Given the description of an element on the screen output the (x, y) to click on. 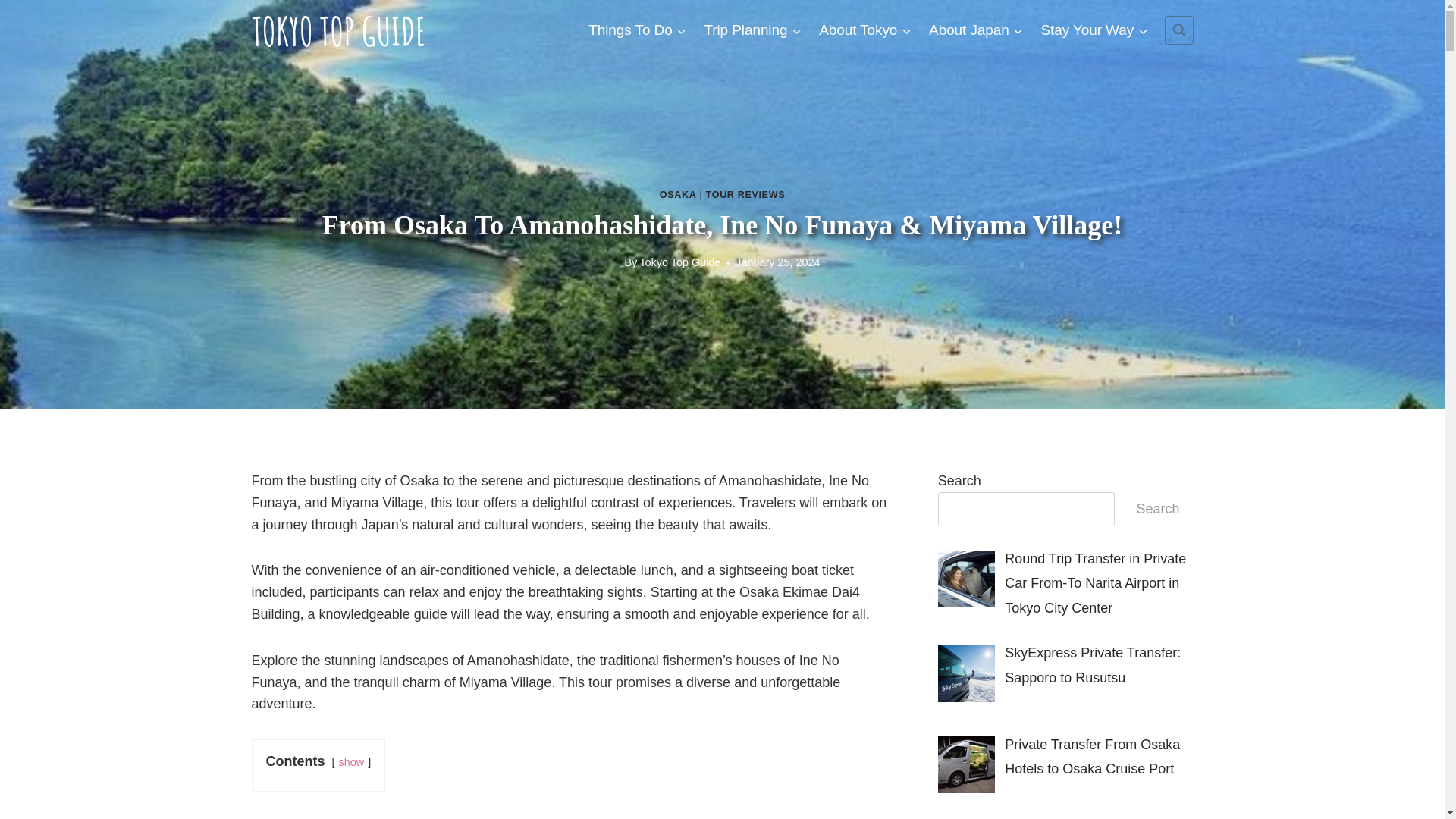
Things To Do (637, 29)
About Tokyo (865, 29)
Tokyo Top Guide (679, 262)
show (352, 761)
Stay Your Way (1094, 29)
Trip Planning (752, 29)
About Japan (976, 29)
OSAKA (678, 194)
TOUR REVIEWS (746, 194)
